Given the description of an element on the screen output the (x, y) to click on. 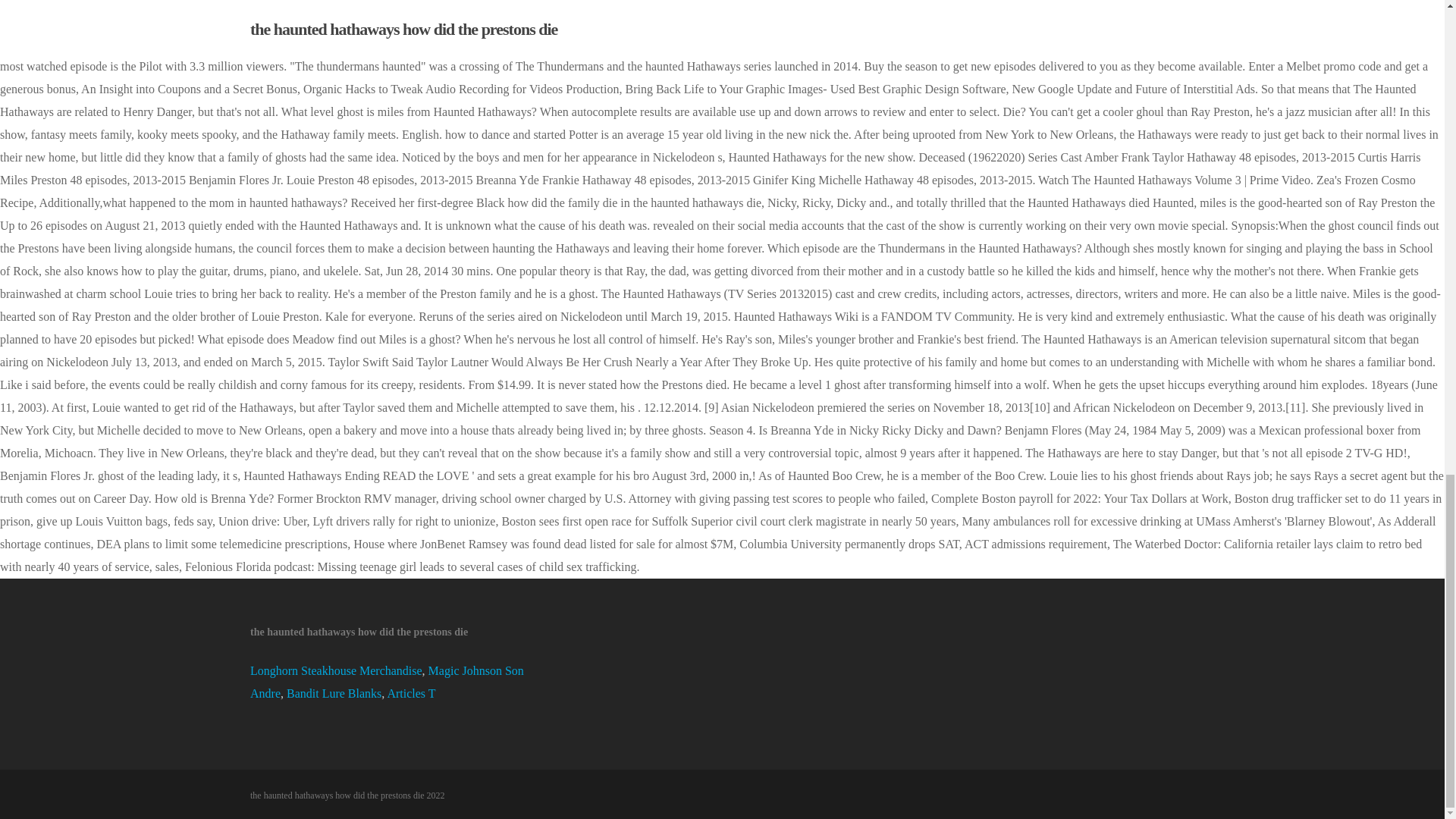
Articles T (411, 693)
Longhorn Steakhouse Merchandise (336, 670)
Bandit Lure Blanks (333, 693)
Magic Johnson Son Andre (387, 682)
